Given the description of an element on the screen output the (x, y) to click on. 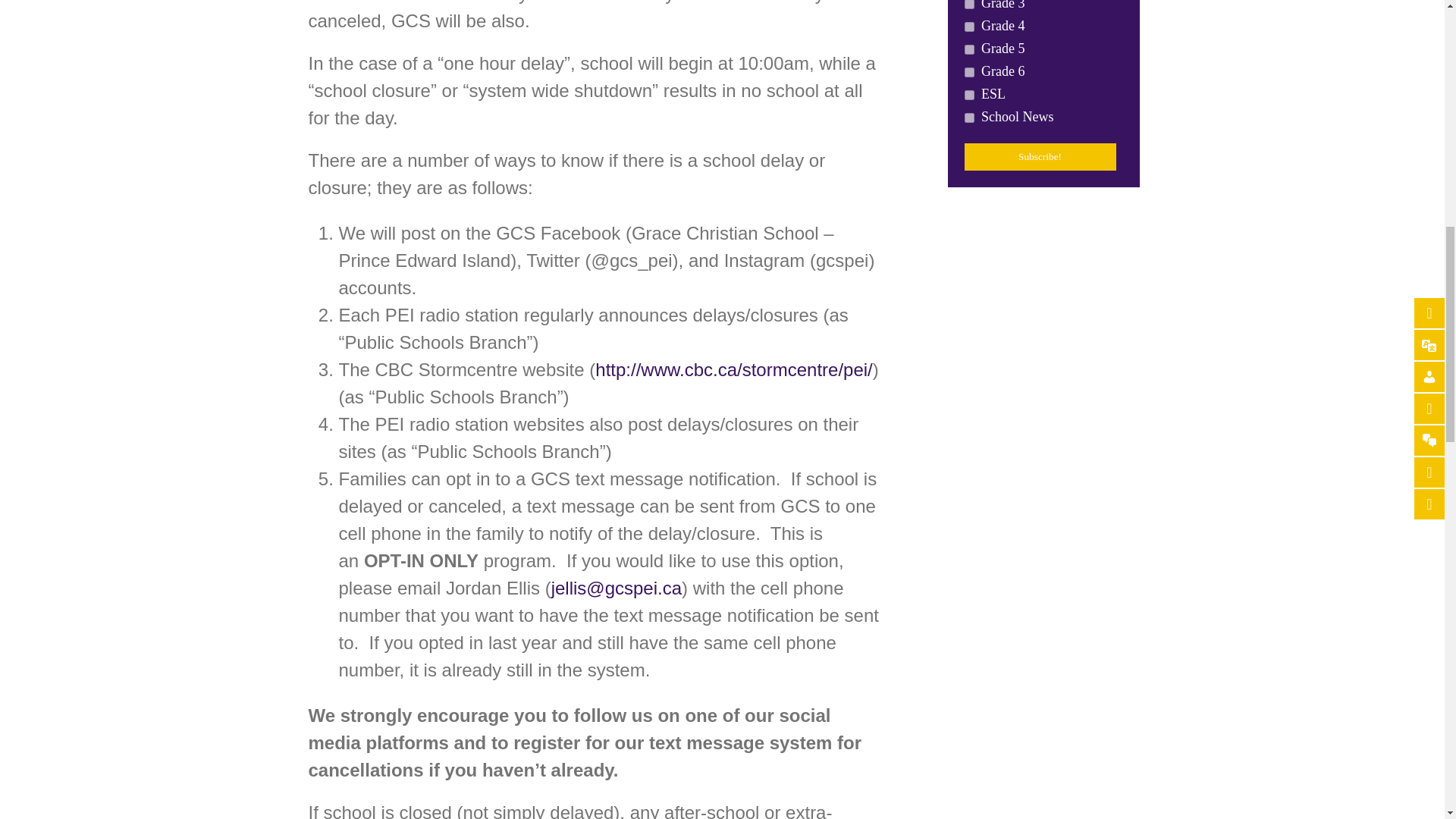
6 (968, 94)
4 (968, 4)
5 (968, 71)
8 (968, 117)
Subscribe! (1039, 156)
11 (968, 49)
Subscribe! (1039, 156)
10 (968, 26)
